Given the description of an element on the screen output the (x, y) to click on. 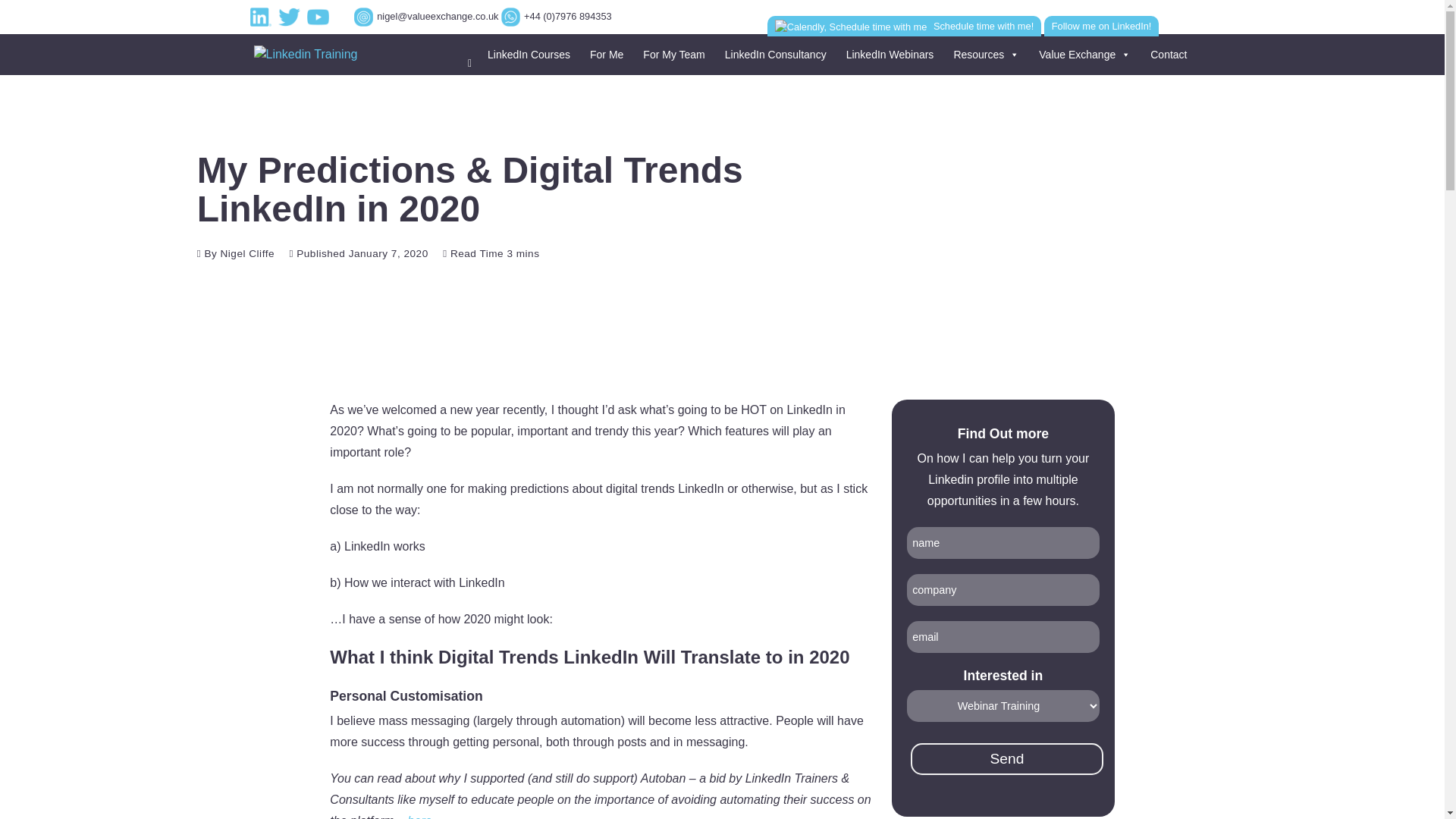
Resources (983, 54)
For My Team (670, 54)
Send (1007, 758)
YouTube (320, 16)
Contact (1165, 54)
Value Exchange (1082, 54)
LinkedIn Webinars (888, 54)
LinkedIn Consultancy (773, 54)
Twitter (291, 16)
Schedule time with me! (904, 25)
